Given the description of an element on the screen output the (x, y) to click on. 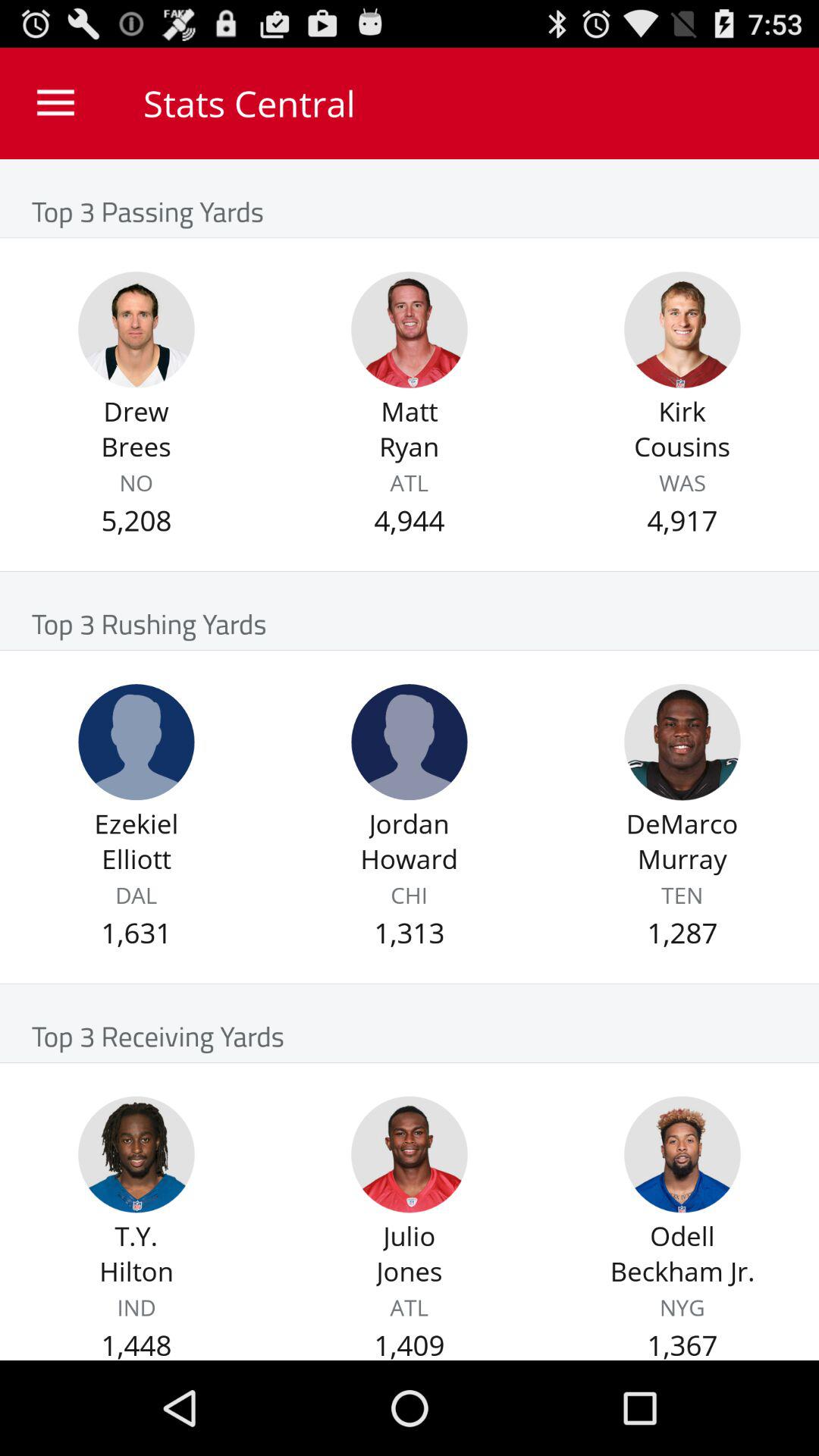
jordan howard (409, 741)
